Given the description of an element on the screen output the (x, y) to click on. 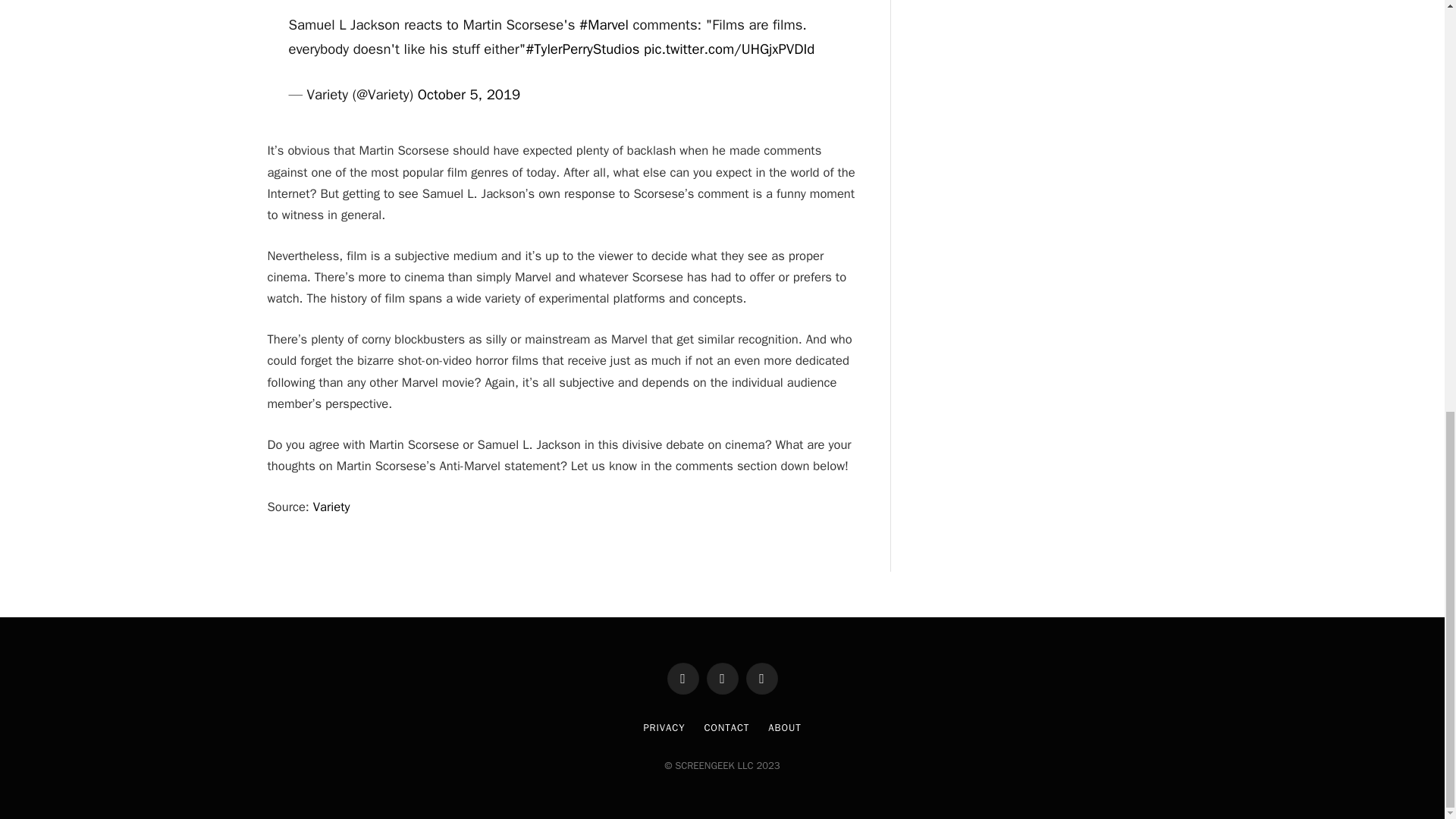
PRIVACY (663, 727)
October 5, 2019 (468, 94)
CONTACT (726, 727)
Variety (331, 506)
Facebook (682, 678)
ABOUT (784, 727)
Instagram (761, 678)
